Given the description of an element on the screen output the (x, y) to click on. 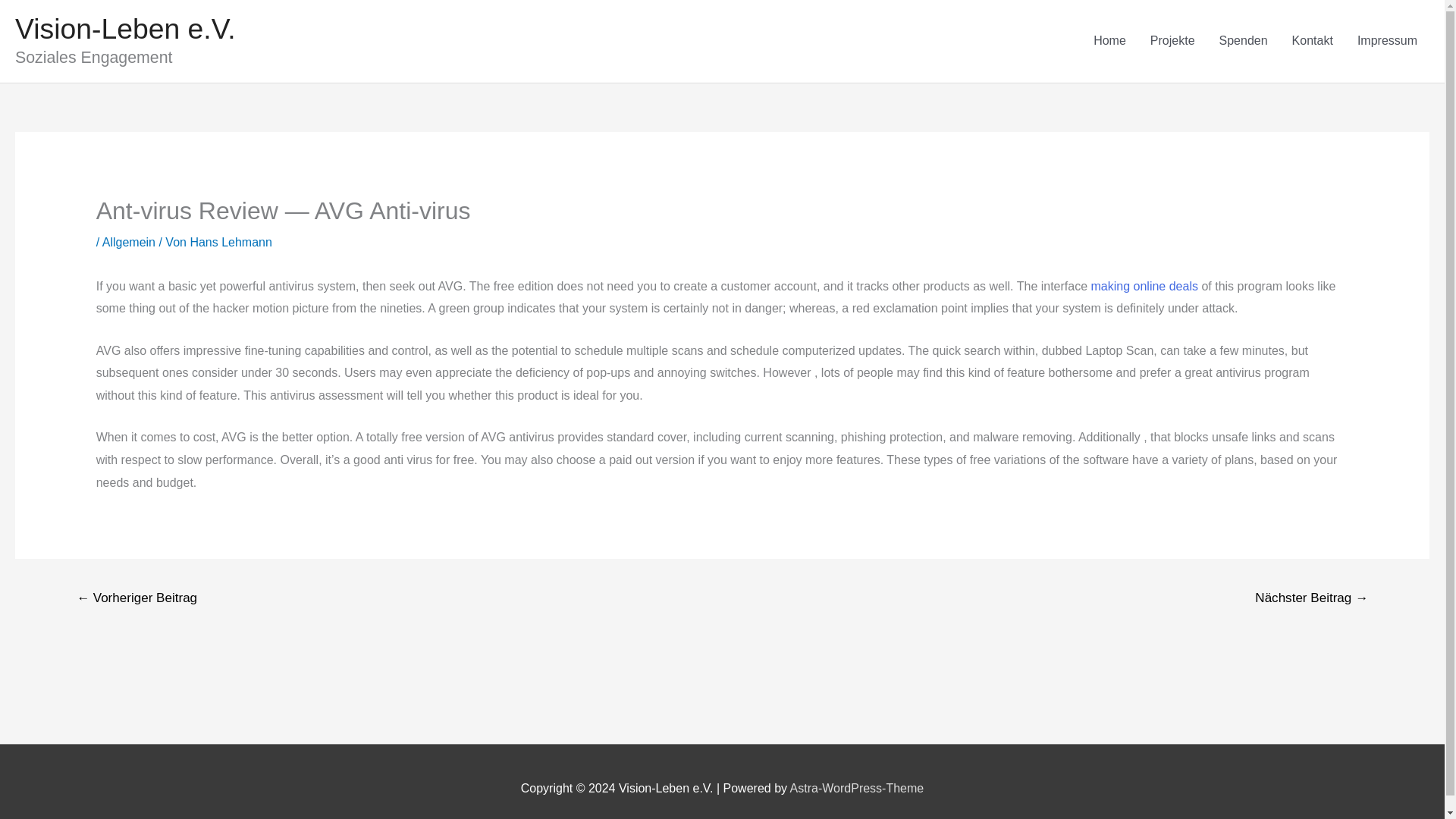
Impressum (1387, 40)
Vision-Leben e.V. (124, 29)
making online deals (1144, 286)
Projekte (1172, 40)
Allgemein (128, 241)
Astra-WordPress-Theme (857, 787)
Hans Lehmann (230, 241)
Home (1109, 40)
Kontakt (1312, 40)
Spenden (1243, 40)
